Given the description of an element on the screen output the (x, y) to click on. 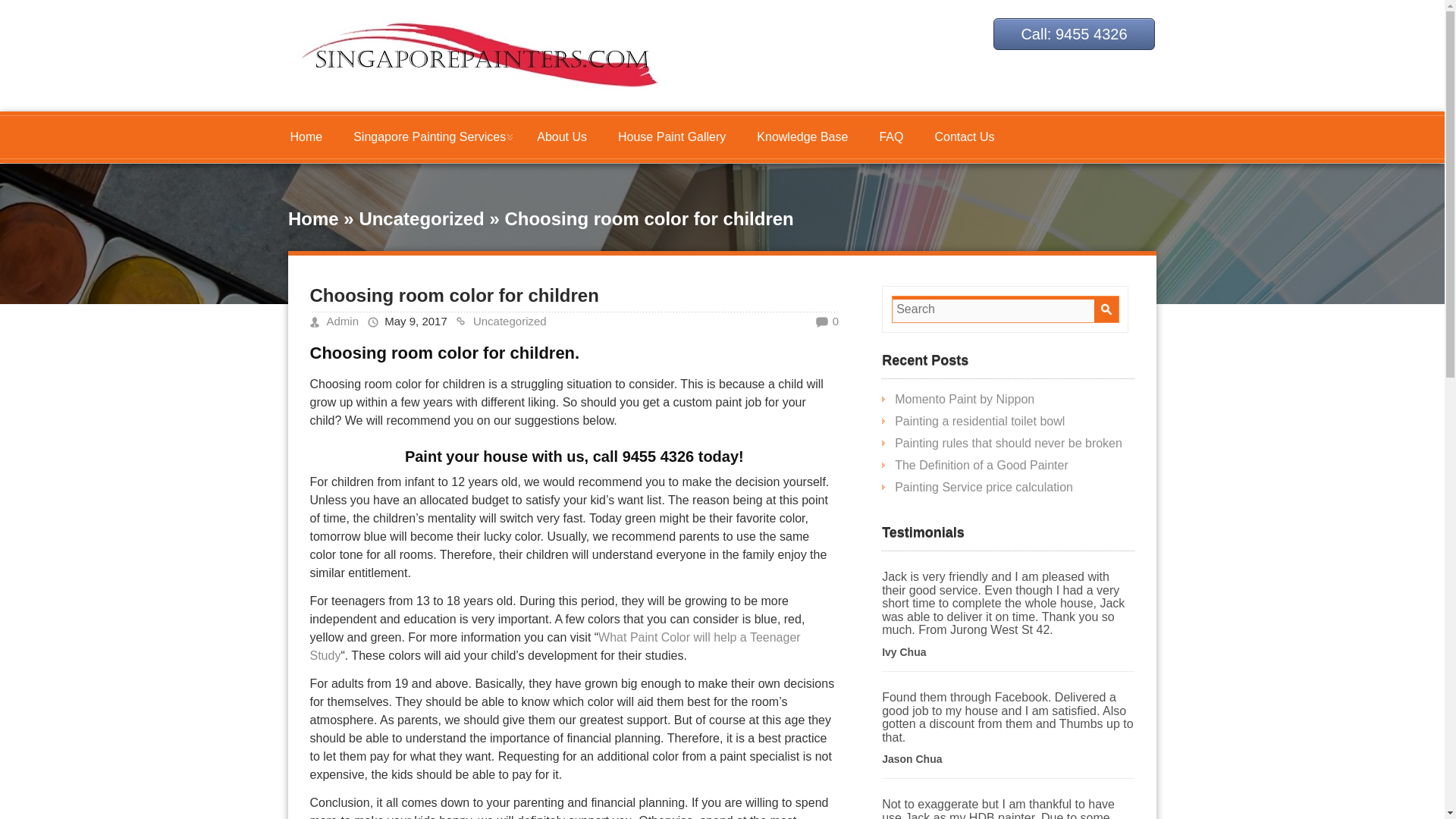
Permanent Link to Choosing room color for children (453, 295)
Home (313, 218)
What Paint Color will help a Teenager Study (553, 645)
Uncategorized (420, 218)
Contact Us (963, 137)
Home (306, 137)
Admin (342, 320)
Posts by Admin (342, 320)
About Us (561, 137)
Uncategorized (510, 320)
Choosing room color for children (453, 295)
House Paint Gallery (671, 137)
FAQ (890, 137)
Singapore Painting Services (429, 137)
Call: 9455 4326 (1073, 33)
